Given the description of an element on the screen output the (x, y) to click on. 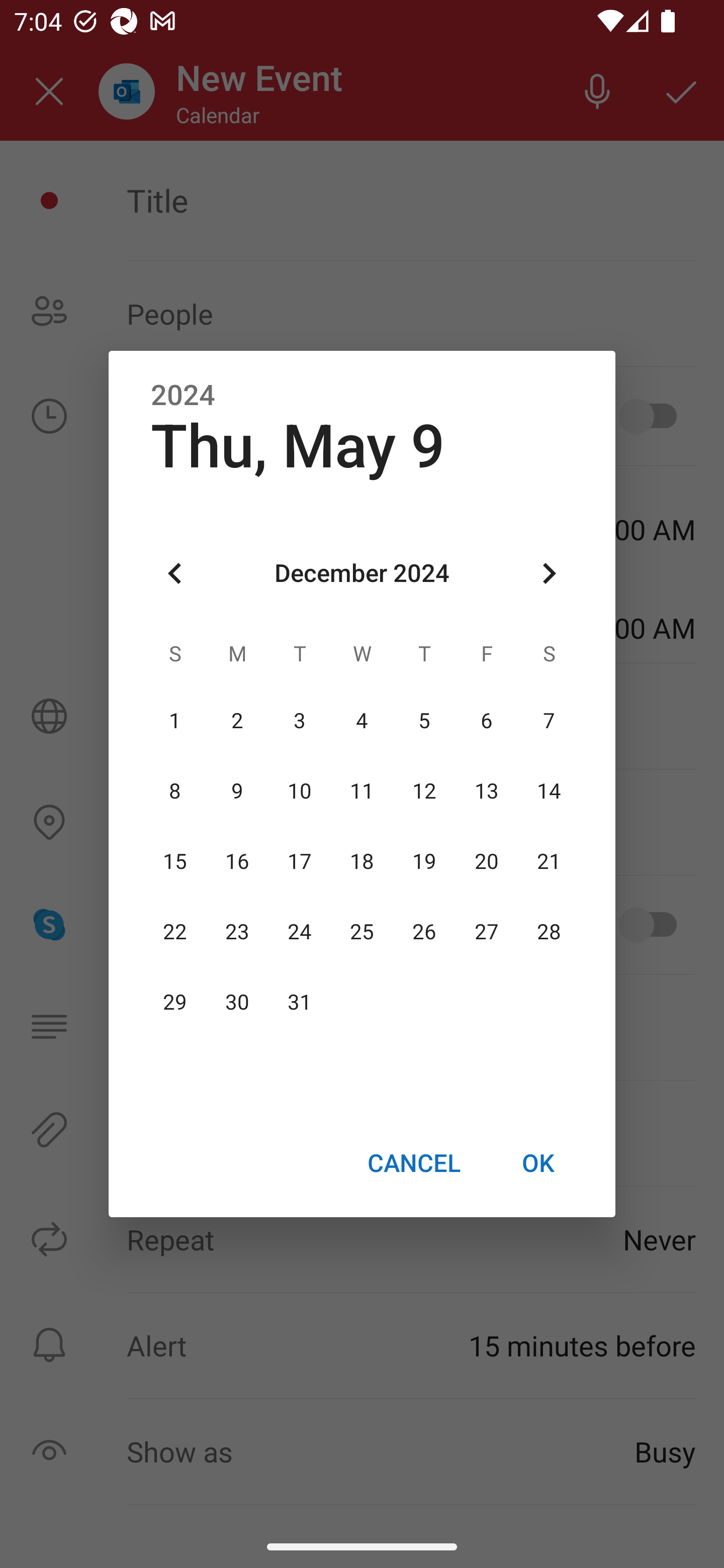
2024 (182, 395)
Thu, May 9 (297, 446)
Previous month (174, 573)
Next month (548, 573)
1 01 December 2024 (175, 720)
2 02 December 2024 (237, 720)
3 03 December 2024 (299, 720)
4 04 December 2024 (361, 720)
5 05 December 2024 (424, 720)
6 06 December 2024 (486, 720)
7 07 December 2024 (548, 720)
8 08 December 2024 (175, 790)
9 09 December 2024 (237, 790)
10 10 December 2024 (299, 790)
11 11 December 2024 (361, 790)
12 12 December 2024 (424, 790)
13 13 December 2024 (486, 790)
14 14 December 2024 (548, 790)
15 15 December 2024 (175, 861)
16 16 December 2024 (237, 861)
17 17 December 2024 (299, 861)
18 18 December 2024 (361, 861)
19 19 December 2024 (424, 861)
20 20 December 2024 (486, 861)
21 21 December 2024 (548, 861)
22 22 December 2024 (175, 931)
23 23 December 2024 (237, 931)
24 24 December 2024 (299, 931)
25 25 December 2024 (361, 931)
26 26 December 2024 (424, 931)
27 27 December 2024 (486, 931)
28 28 December 2024 (548, 931)
29 29 December 2024 (175, 1002)
30 30 December 2024 (237, 1002)
31 31 December 2024 (299, 1002)
CANCEL (413, 1162)
OK (537, 1162)
